Given the description of an element on the screen output the (x, y) to click on. 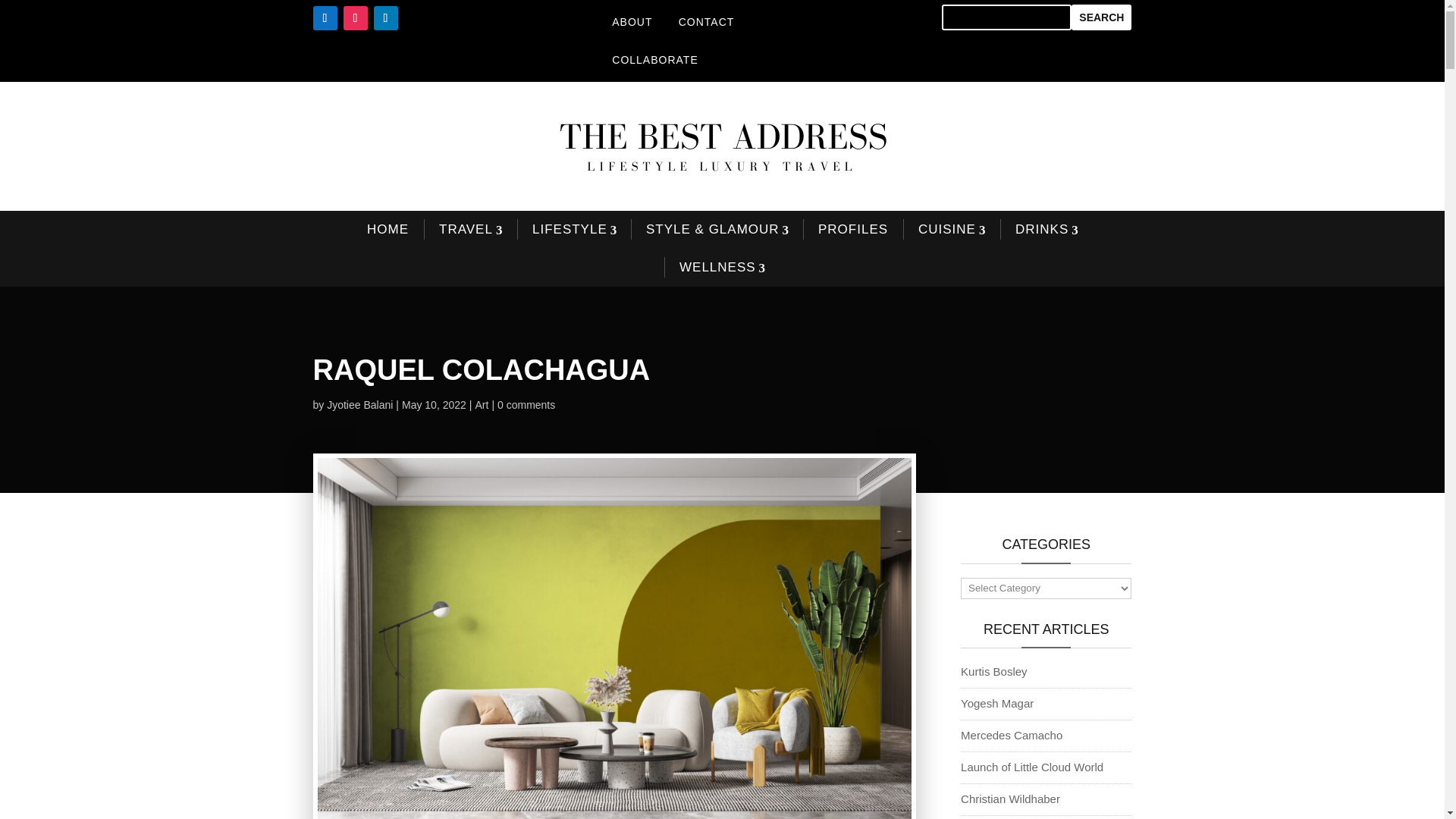
Search (1101, 17)
Posts by Jyotiee Balani (359, 404)
Follow on LinkedIn (384, 17)
Follow on Facebook (324, 17)
Follow on Instagram (354, 17)
Search (1101, 17)
The Best Address New Logo (721, 146)
